Given the description of an element on the screen output the (x, y) to click on. 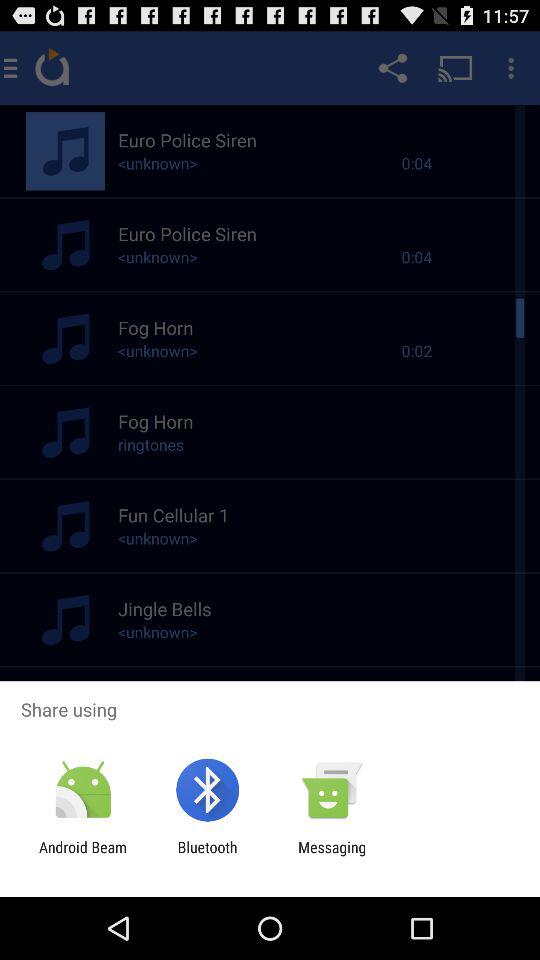
tap the bluetooth icon (207, 856)
